Given the description of an element on the screen output the (x, y) to click on. 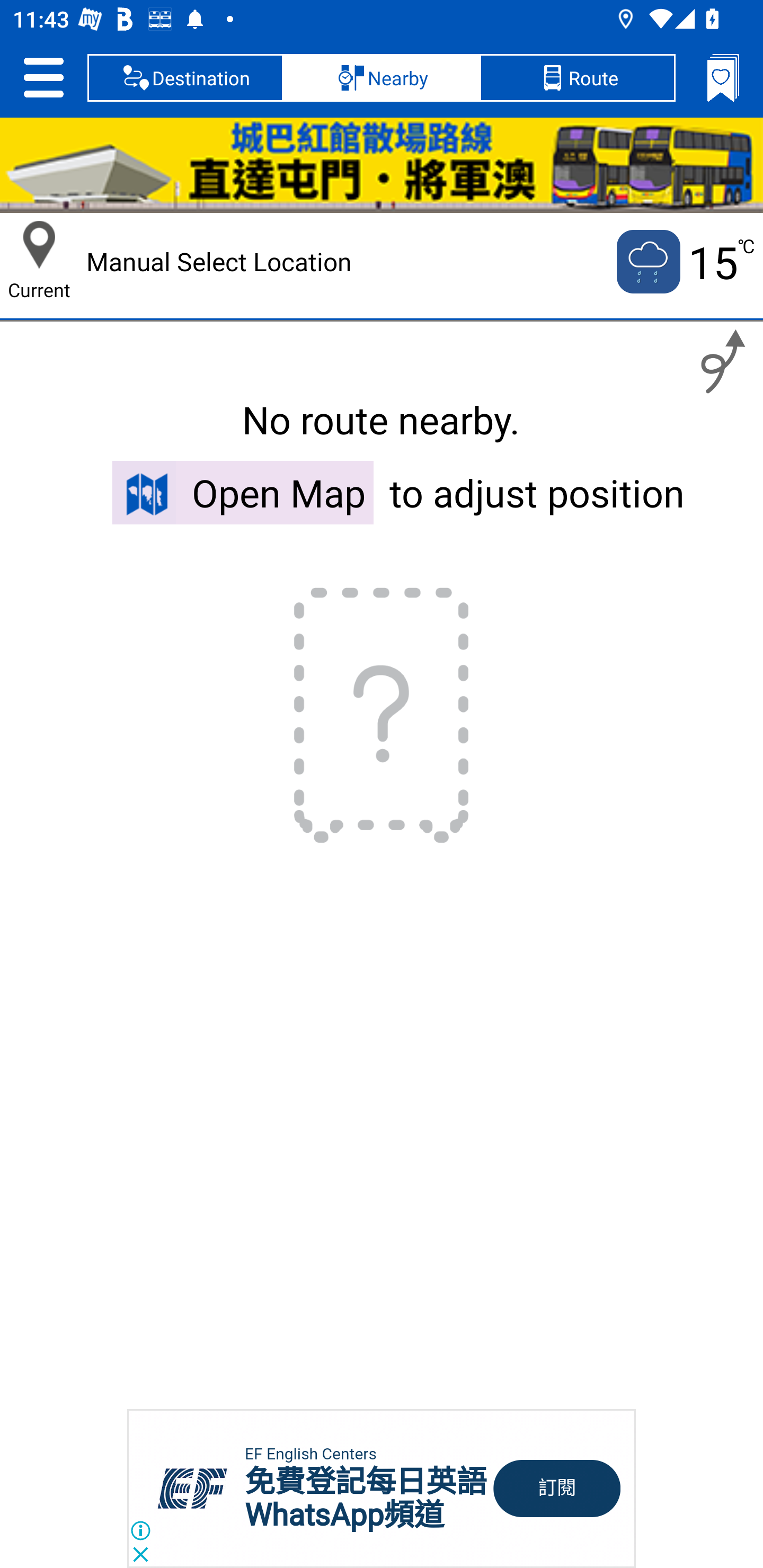
Destination (185, 77)
Nearby, selected (381, 77)
Route (577, 77)
Bookmarks (723, 77)
Setting (43, 77)
HKC (381, 165)
Current Location (38, 244)
Current temputure is  15  no 15 ℃ (684, 261)
Open Map (242, 491)
EF English Centers (310, 1454)
訂閱 (556, 1488)
免費登記每日英語 WhatsApp頻道 免費登記每日英語 WhatsApp頻道 (365, 1497)
